Given the description of an element on the screen output the (x, y) to click on. 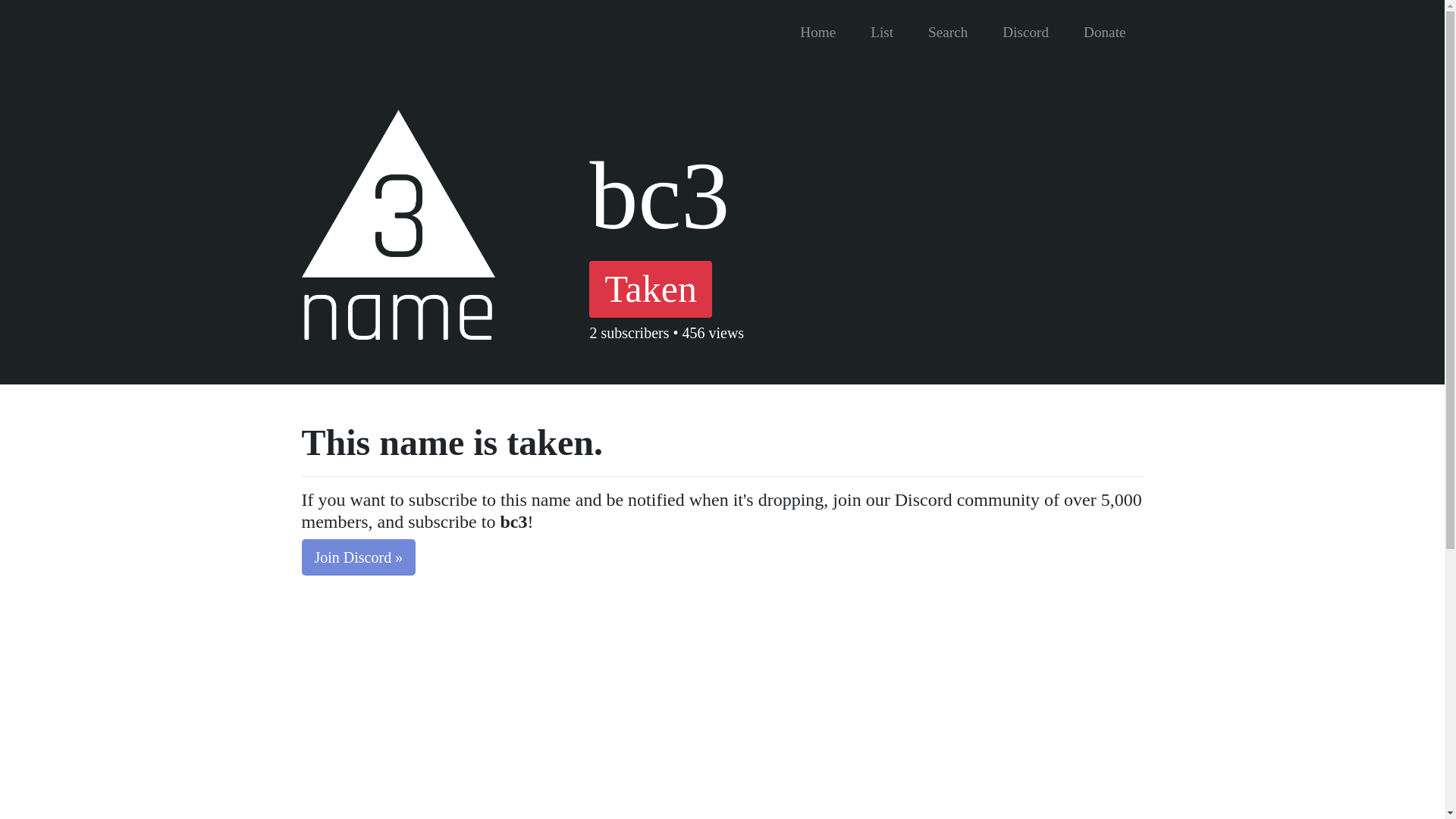
Search (947, 32)
Donate (1104, 32)
Discord (1024, 32)
Home (817, 32)
List (881, 32)
Advertisement (398, 715)
